Given the description of an element on the screen output the (x, y) to click on. 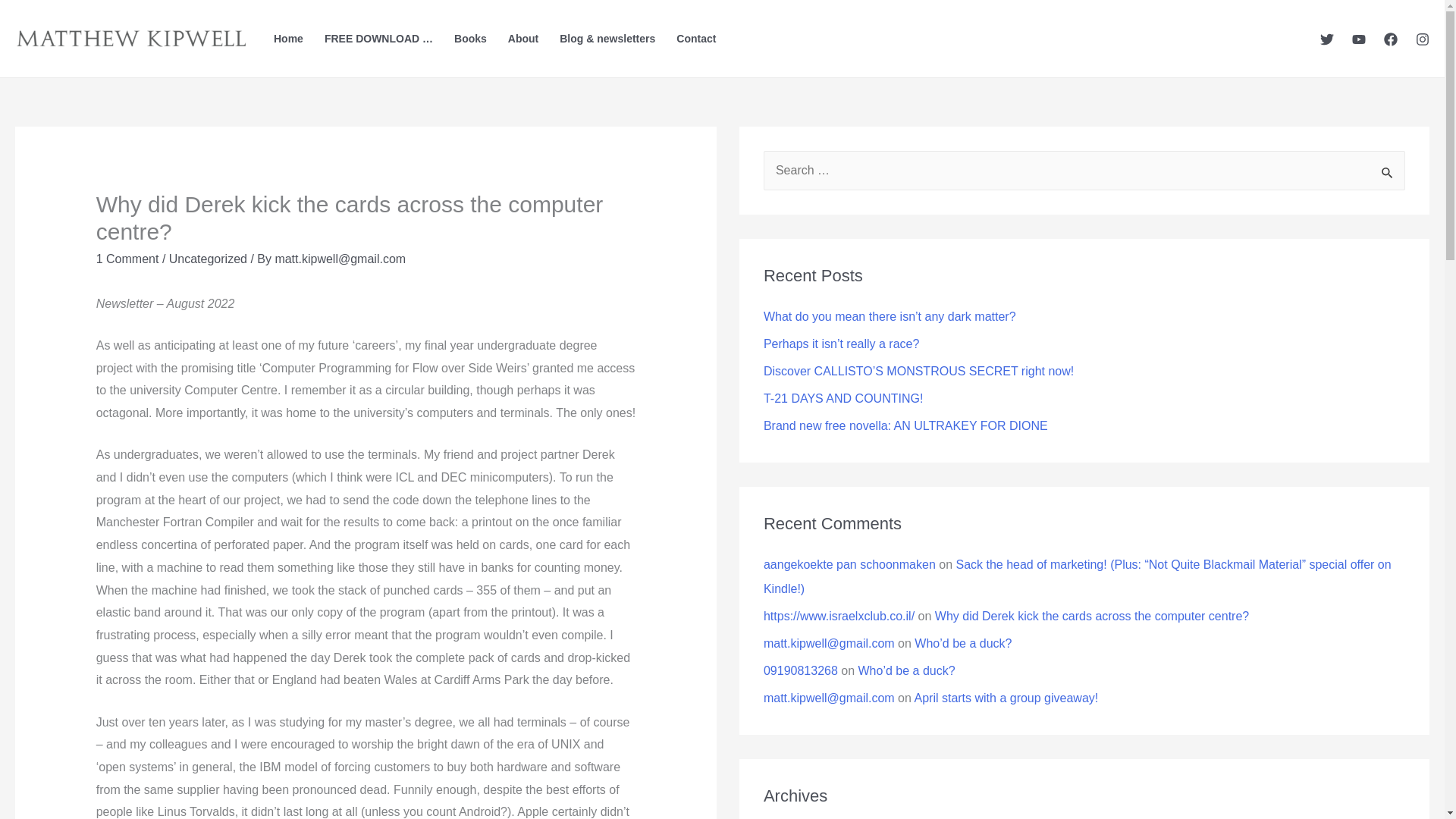
Why did Derek kick the cards across the computer centre? (1091, 615)
T-21 DAYS AND COUNTING! (842, 398)
Brand new free novella: AN ULTRAKEY FOR DIONE (905, 425)
09190813268 (800, 670)
Uncategorized (207, 258)
Home (288, 38)
aangekoekte pan schoonmaken (849, 563)
About (522, 38)
Books (470, 38)
1 Comment (127, 258)
Contact (695, 38)
